Given the description of an element on the screen output the (x, y) to click on. 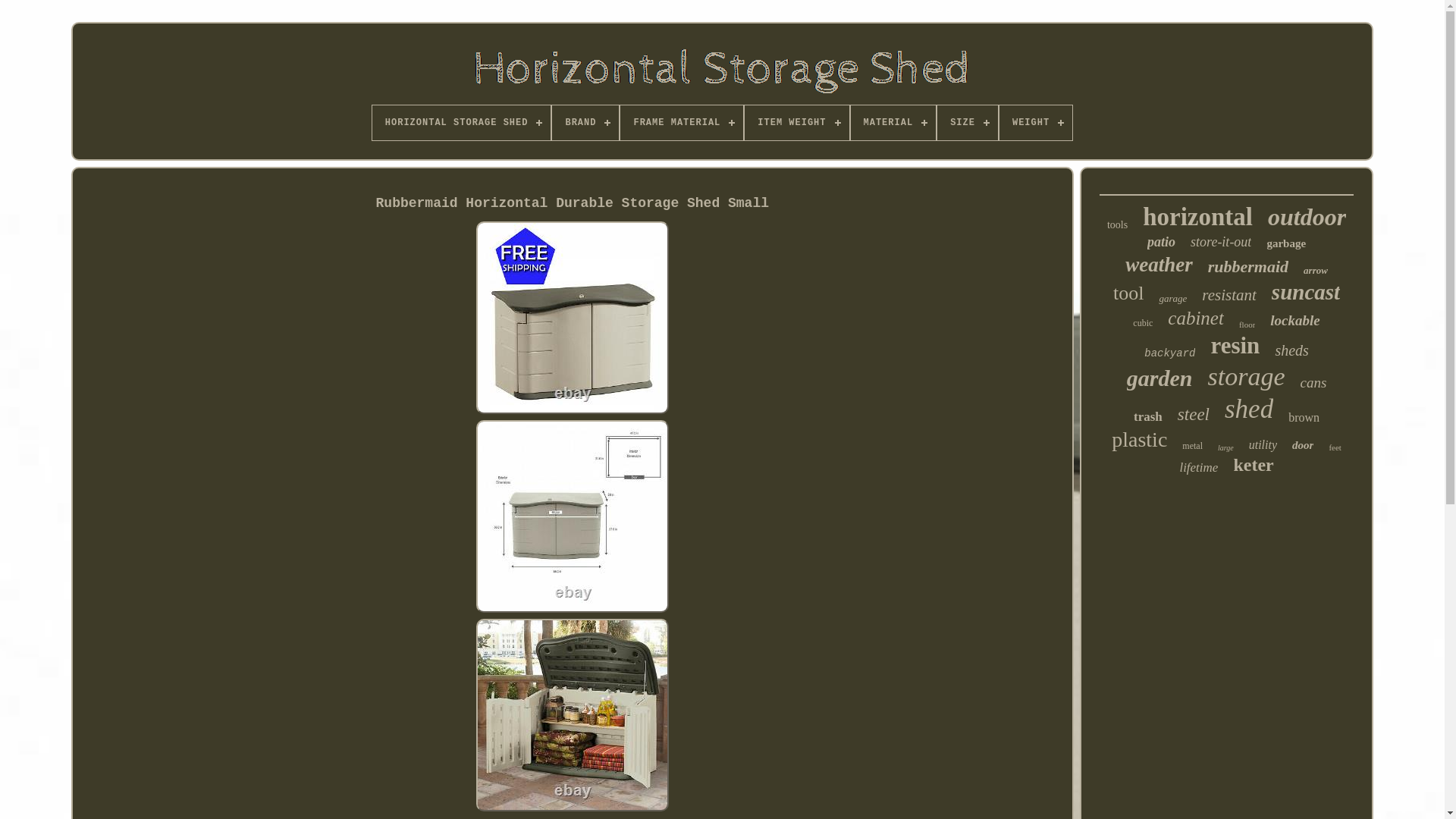
BRAND (584, 122)
Rubbermaid Horizontal Durable Storage Shed Small (572, 715)
Rubbermaid Horizontal Durable Storage Shed Small (572, 516)
FRAME MATERIAL (681, 122)
HORIZONTAL STORAGE SHED (461, 122)
Rubbermaid Horizontal Durable Storage Shed Small (572, 317)
